Given the description of an element on the screen output the (x, y) to click on. 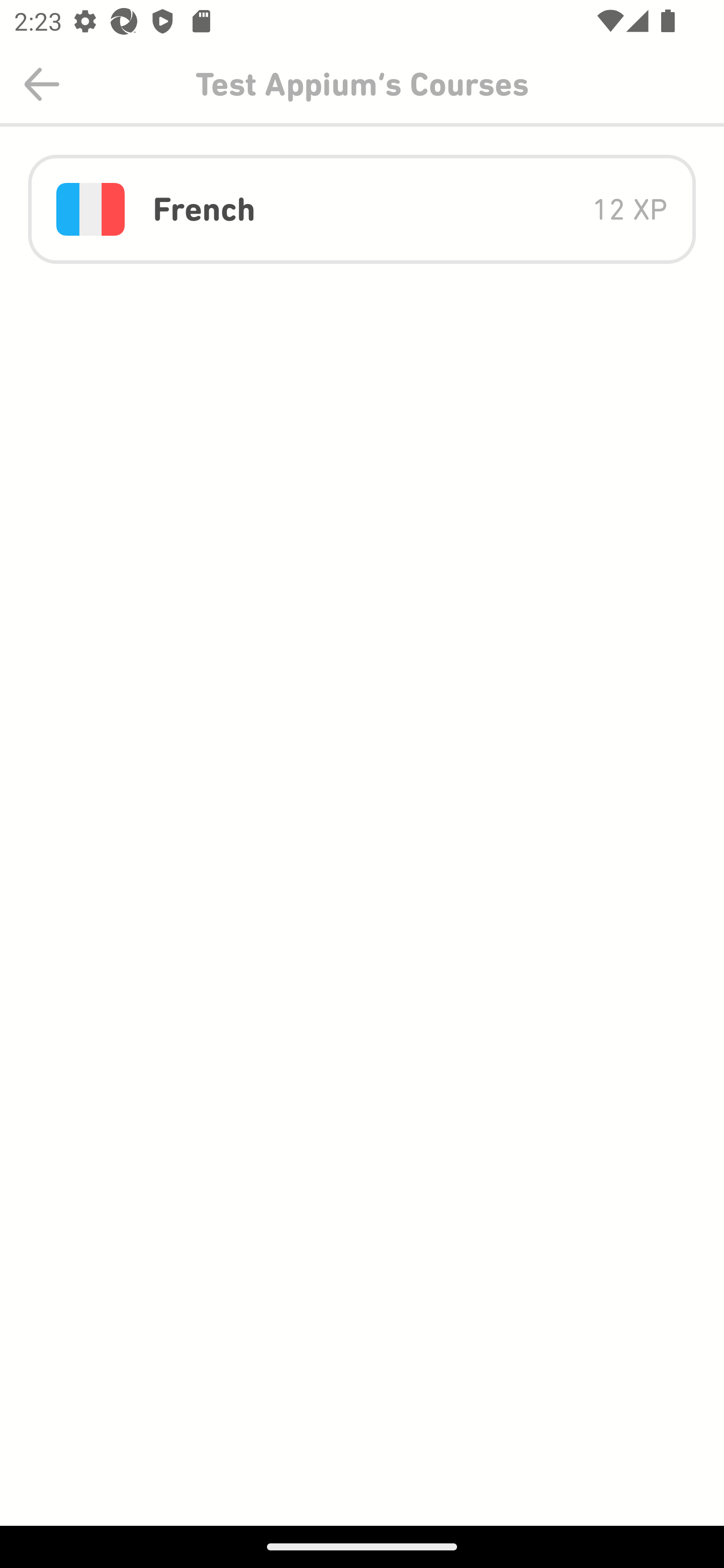
Back (41, 84)
